Given the description of an element on the screen output the (x, y) to click on. 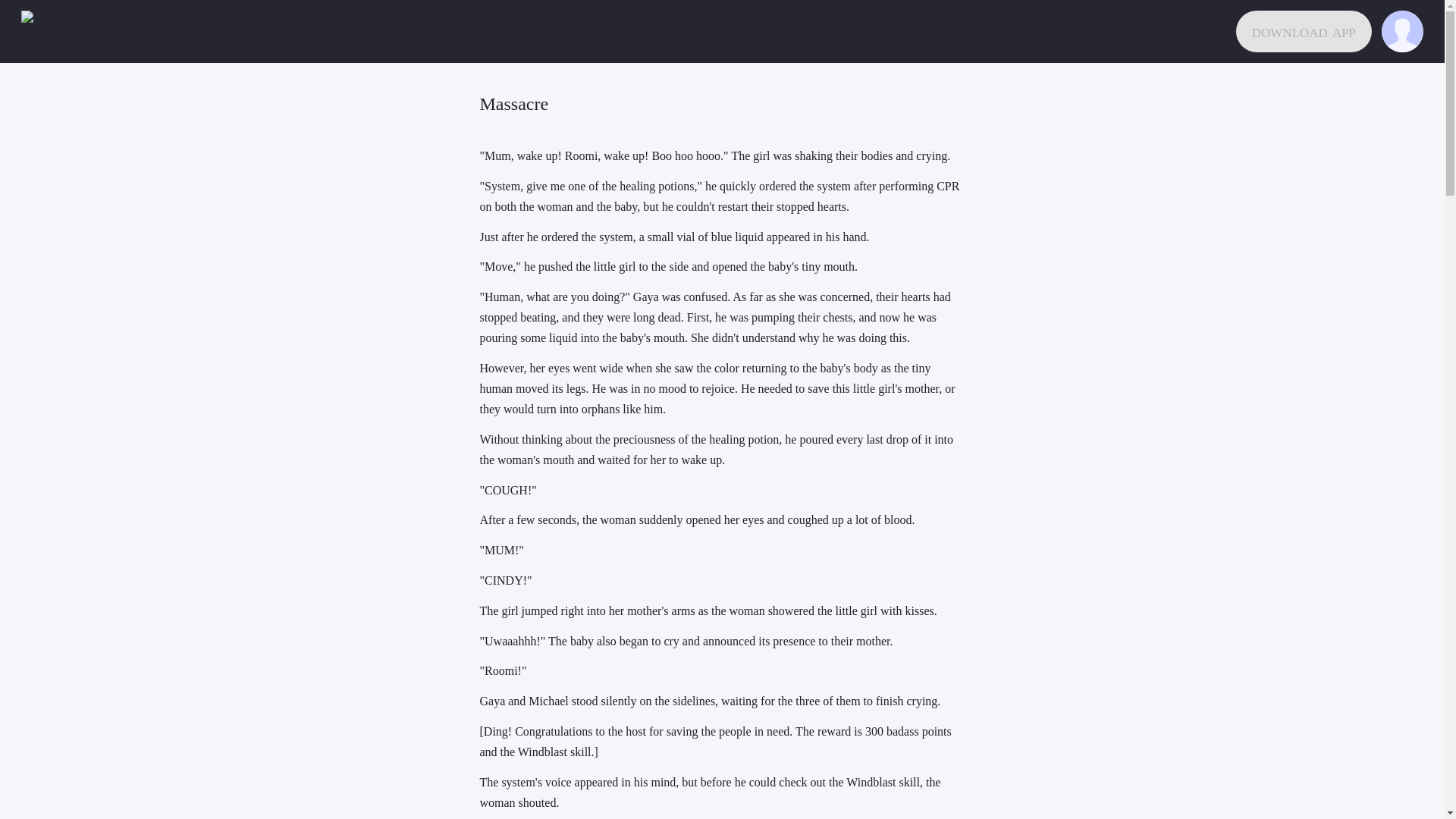
Webnovel (41, 31)
download app (1303, 31)
